Given the description of an element on the screen output the (x, y) to click on. 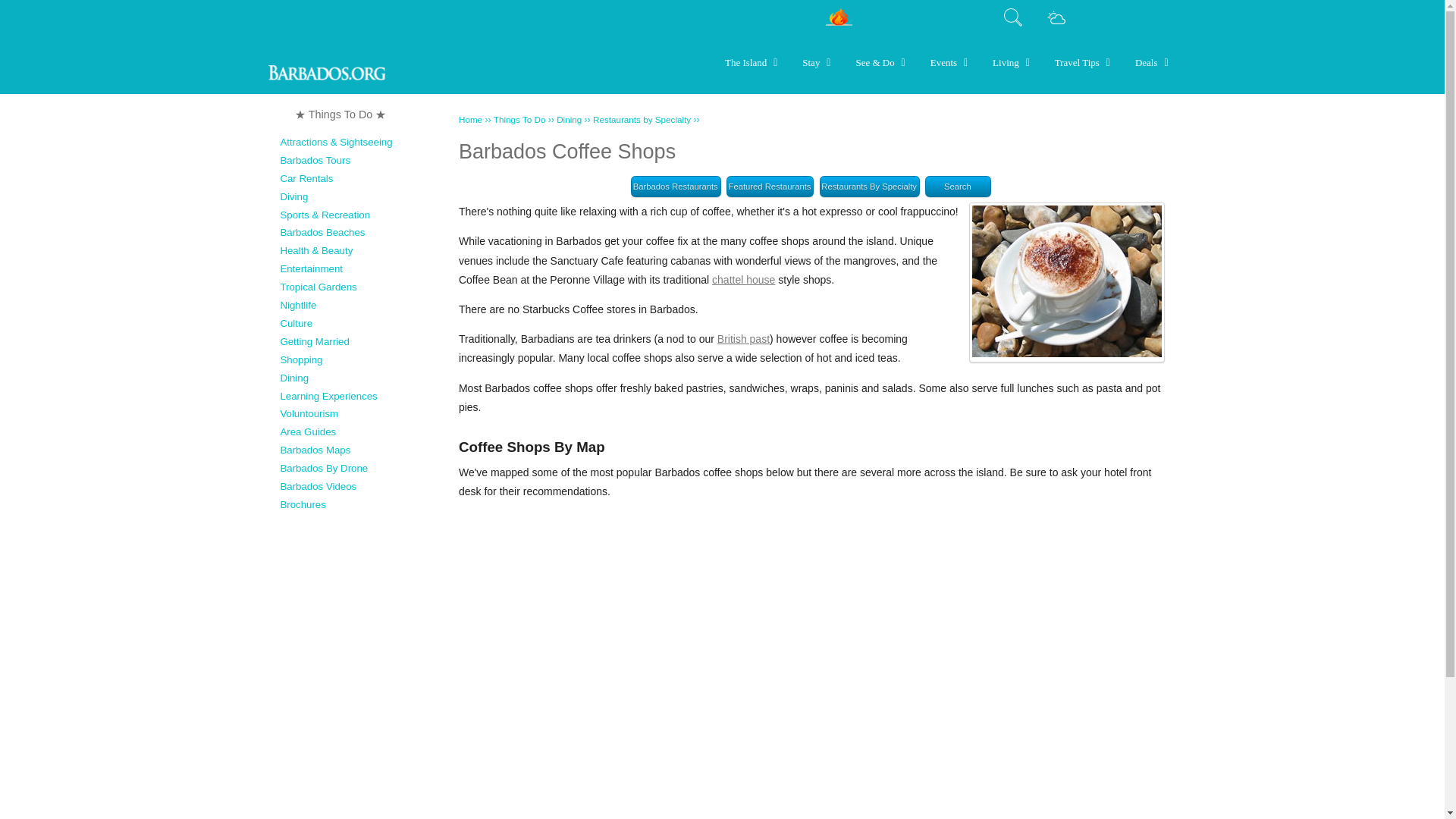
Things To Do In Barbados (340, 114)
What's Hot in Barbados (838, 22)
Coffee on the beach (1066, 281)
What's Hot in Barbados (838, 16)
